Given the description of an element on the screen output the (x, y) to click on. 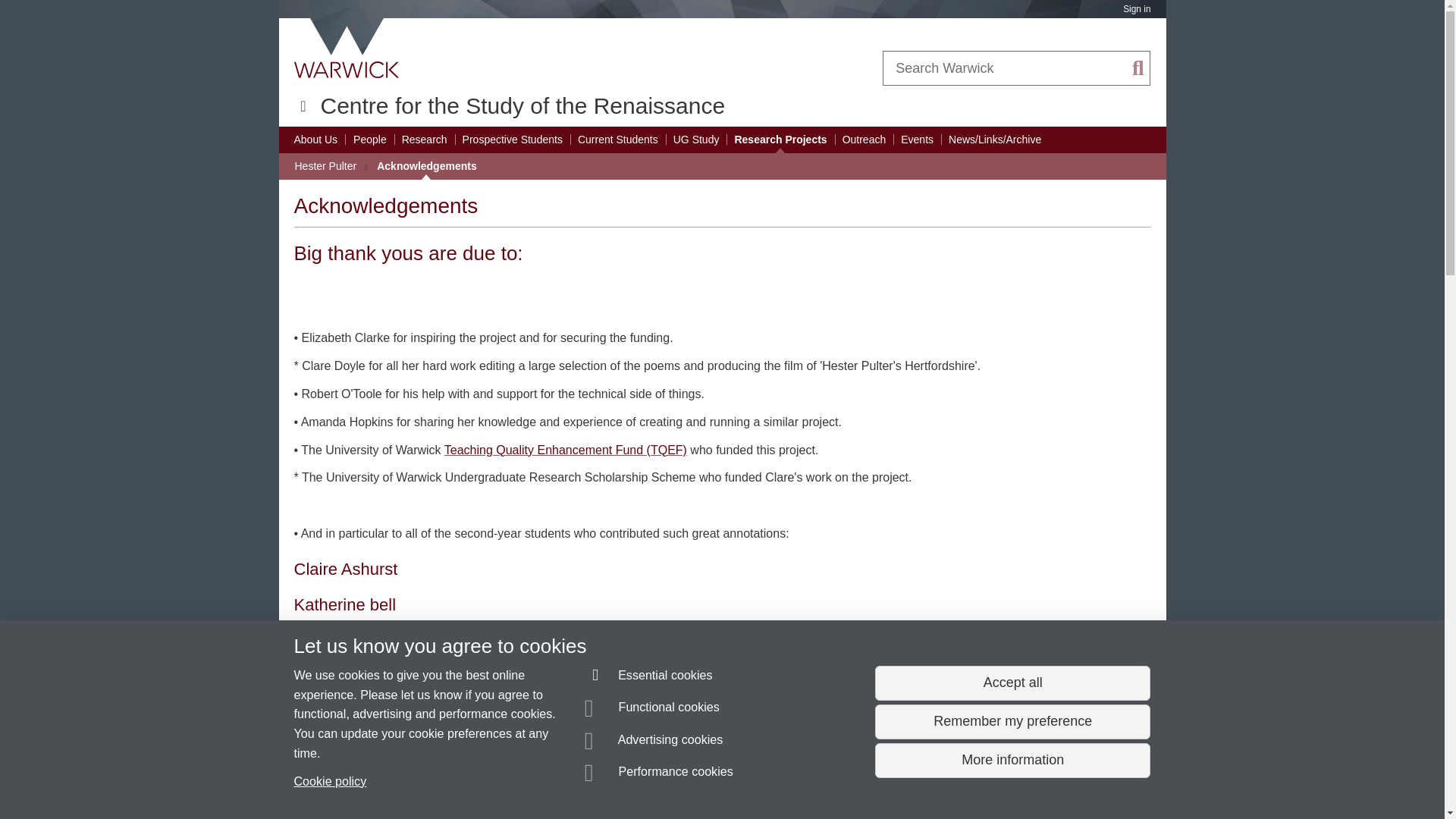
University of Warwick homepage (346, 48)
Accept all functional, advertising and performance cookies (1012, 683)
People (370, 139)
Essential cookies are always on (649, 677)
Events (917, 139)
Research Projects (780, 139)
UG Study (695, 139)
Current Students (618, 139)
Outreach (864, 139)
Prospective Students (512, 139)
Sign in (1136, 9)
